Given the description of an element on the screen output the (x, y) to click on. 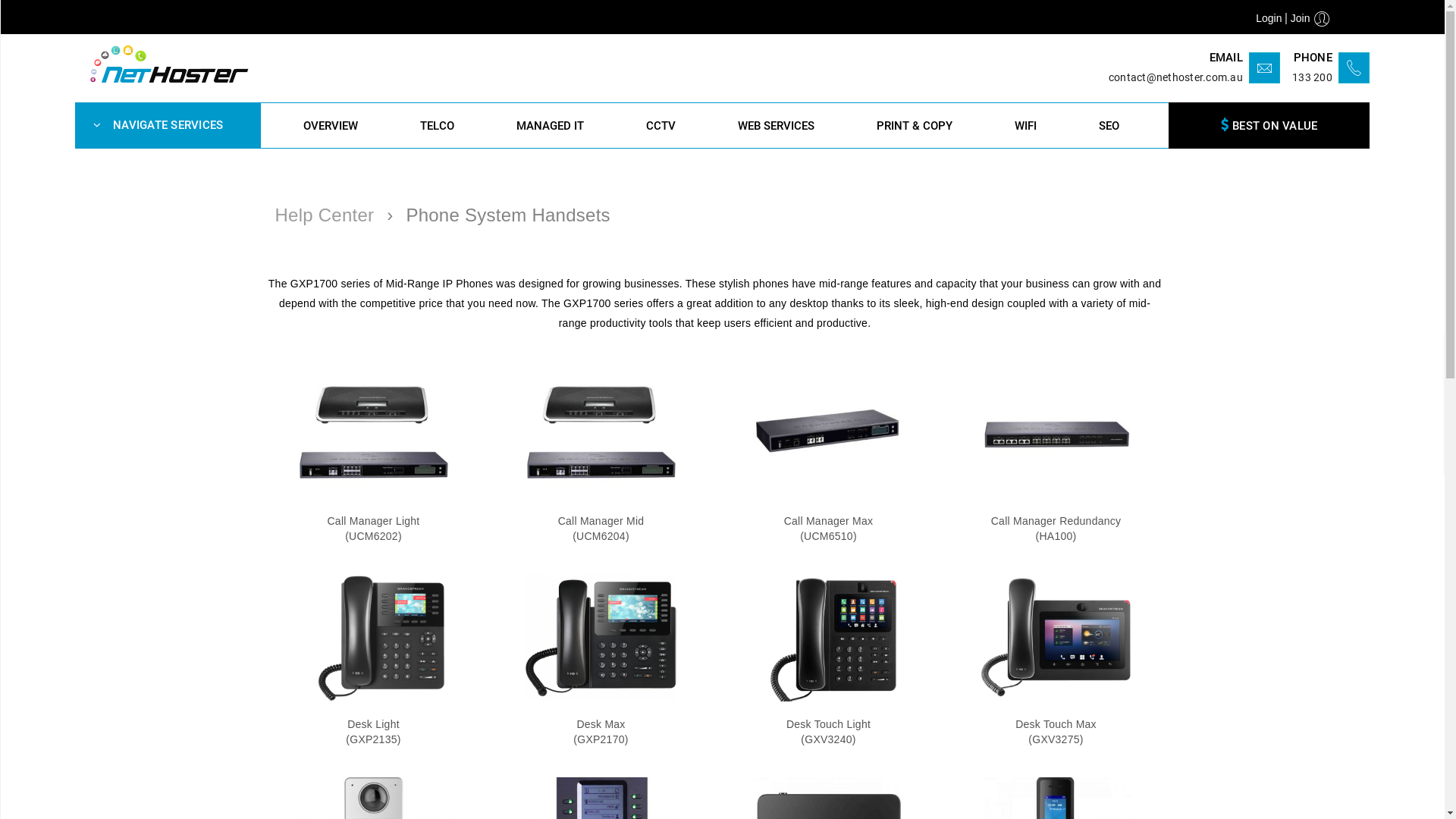
TELCO Element type: text (436, 125)
CCTV Element type: text (660, 125)
Desk Touch Light
(GXV3240) Element type: text (828, 732)
contact@nethoster.com.au Element type: text (1175, 77)
Call Manager Redundancy
(HA100) Element type: text (1056, 528)
Customer Terms Element type: text (769, 638)
Desk Light
(GXP2135) Element type: text (372, 732)
Account Management Element type: text (555, 665)
OVERVIEW Element type: text (330, 125)
WEB SERVICES Element type: text (776, 125)
Telco Element type: text (287, 611)
133 200 Element type: text (1312, 77)
Privacy Policy Element type: text (763, 611)
Critical Information Summaries Element type: text (804, 693)
IT Element type: text (279, 583)
WIFI Element type: text (1025, 125)
Call Manager Mid
(UCM6204) Element type: text (601, 528)
Call Manager Light
(UCM6202) Element type: text (372, 528)
Login Element type: text (1268, 18)
Desk Touch Max
(GXV3275) Element type: text (1055, 732)
Net Hoster Element type: hover (170, 68)
Field Services Element type: text (536, 583)
Partner Services Element type: text (542, 611)
Call Manager Max
(UCM6510) Element type: text (828, 528)
Surviellance Element type: text (304, 638)
Web Services Element type: text (308, 665)
SEO Element type: text (1108, 125)
Project Mangement Element type: text (549, 638)
Help Center Element type: text (323, 215)
Financial Hardship Policy Element type: text (791, 665)
Contact Us Element type: text (756, 583)
Desk Max
(GXP2170) Element type: text (600, 732)
PRINT & COPY Element type: text (914, 125)
MANAGED IT Element type: text (549, 125)
Join Element type: text (1300, 18)
Subscribe Element type: text (1142, 672)
Request an Assesment Element type: text (558, 693)
